Given the description of an element on the screen output the (x, y) to click on. 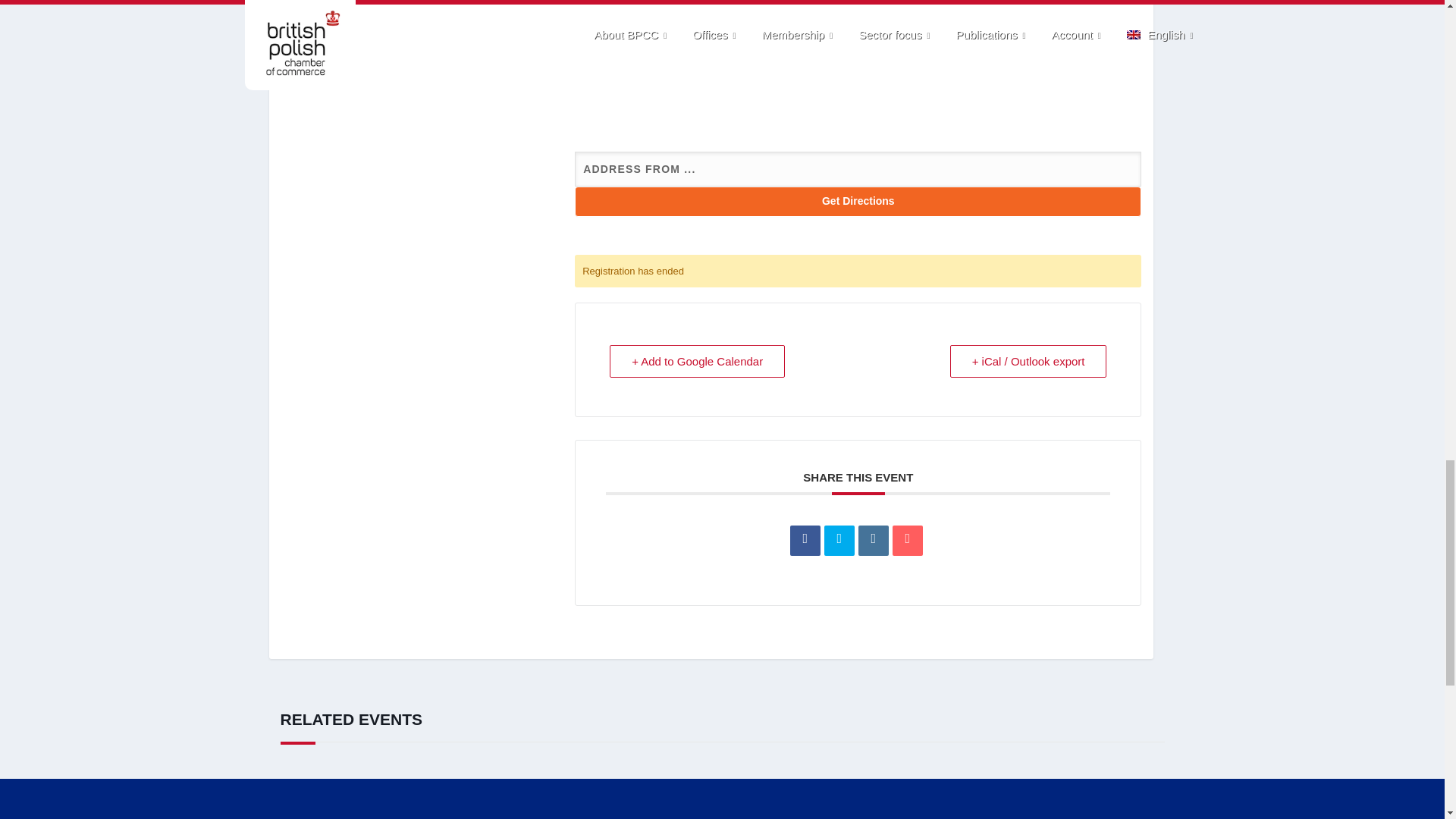
Email (907, 540)
Linkedin (873, 540)
Tweet (839, 540)
Share on Facebook (805, 540)
Get Directions (858, 201)
